Given the description of an element on the screen output the (x, y) to click on. 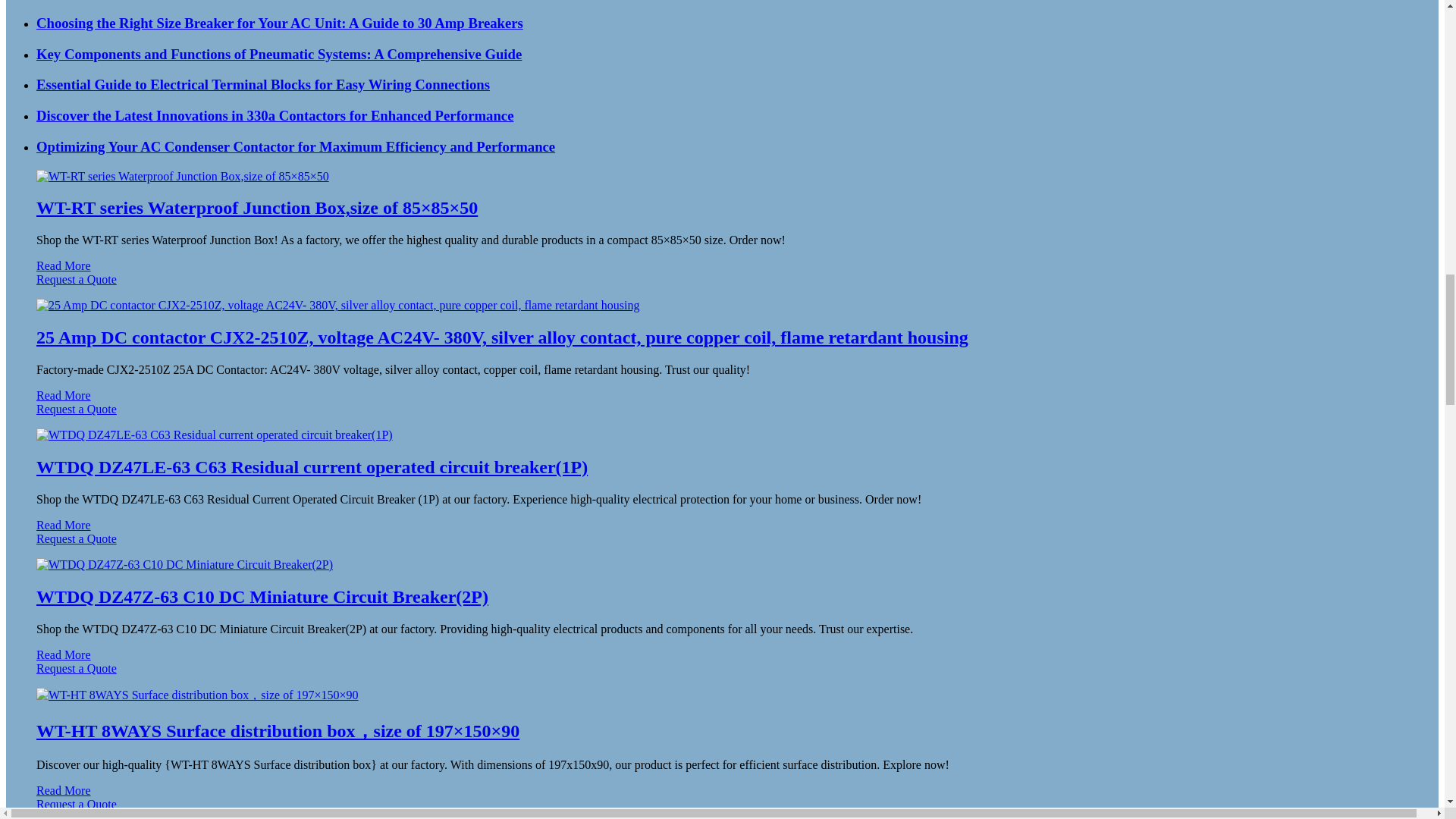
Request a Quote (721, 286)
Read More (63, 265)
